Given the description of an element on the screen output the (x, y) to click on. 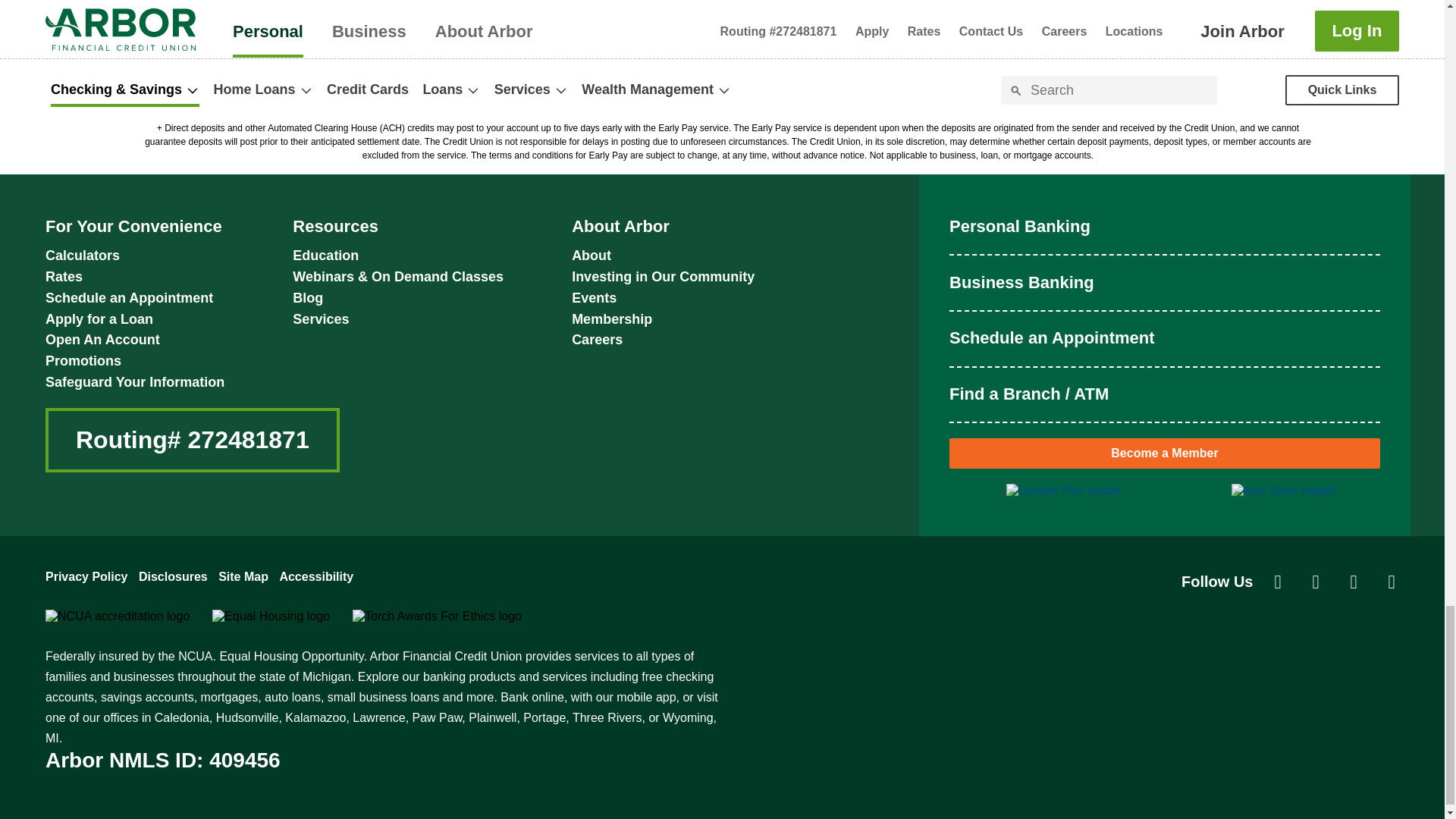
Become a Member (1164, 453)
